Given the description of an element on the screen output the (x, y) to click on. 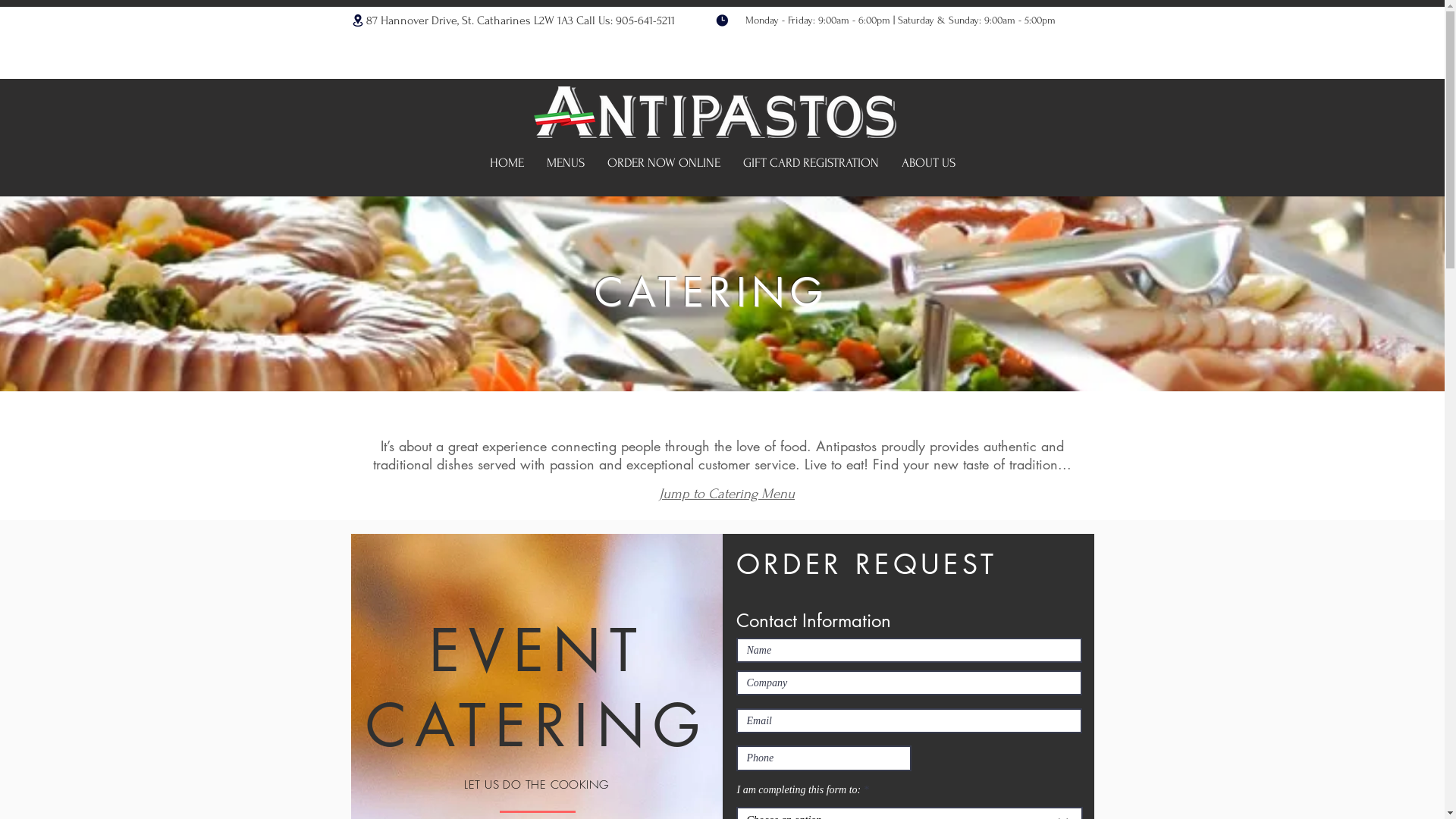
GIFT CARD REGISTRATION Element type: text (810, 162)
Jump to Catering Menu Element type: text (726, 494)
HOME Element type: text (505, 162)
ORDER NOW ONLINE Element type: text (663, 162)
